Given the description of an element on the screen output the (x, y) to click on. 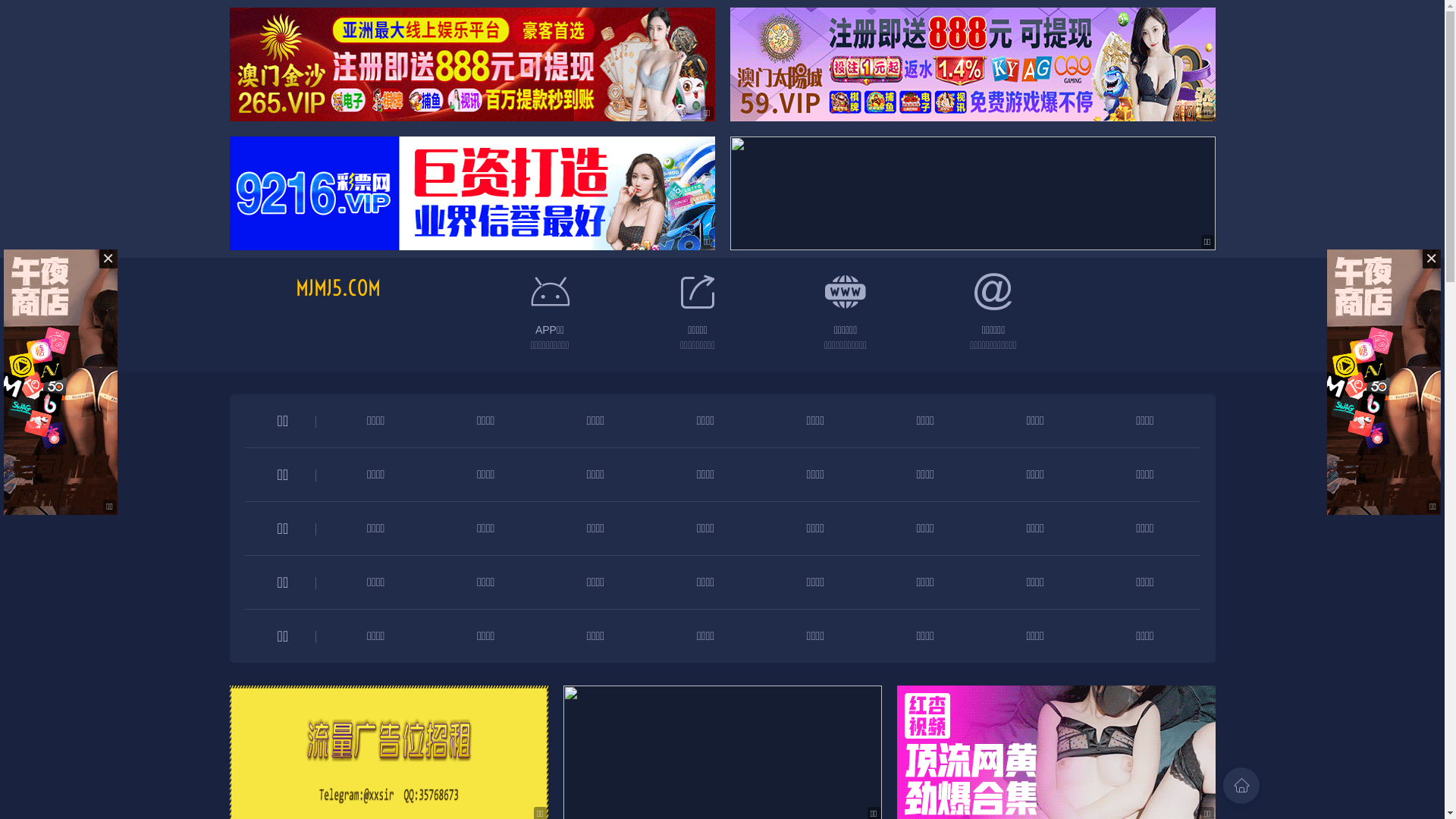
MJMJ5.COM Element type: text (337, 287)
